Given the description of an element on the screen output the (x, y) to click on. 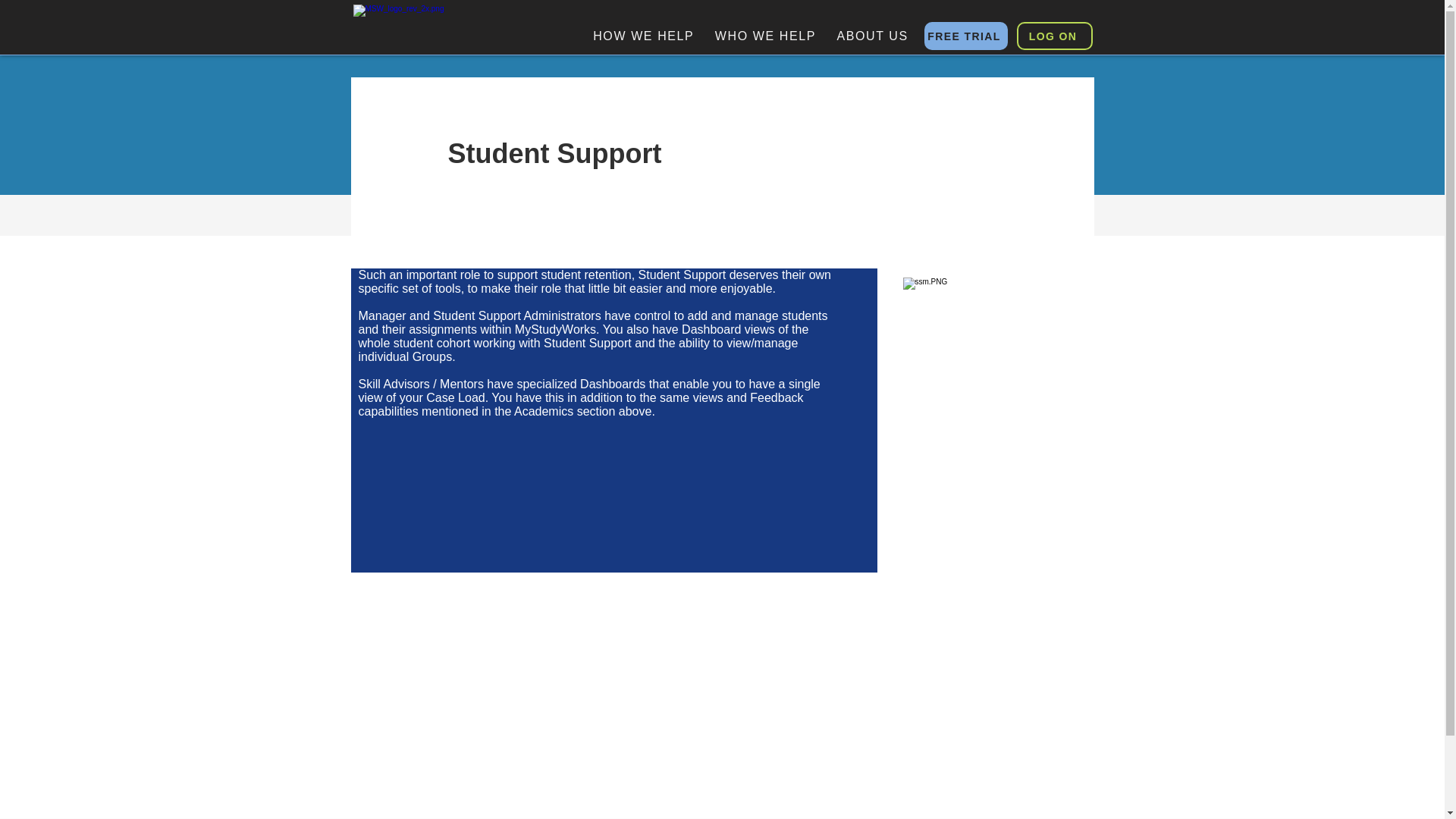
ABOUT US (872, 36)
LOG ON (1054, 35)
FREE TRIAL (965, 35)
